Given the description of an element on the screen output the (x, y) to click on. 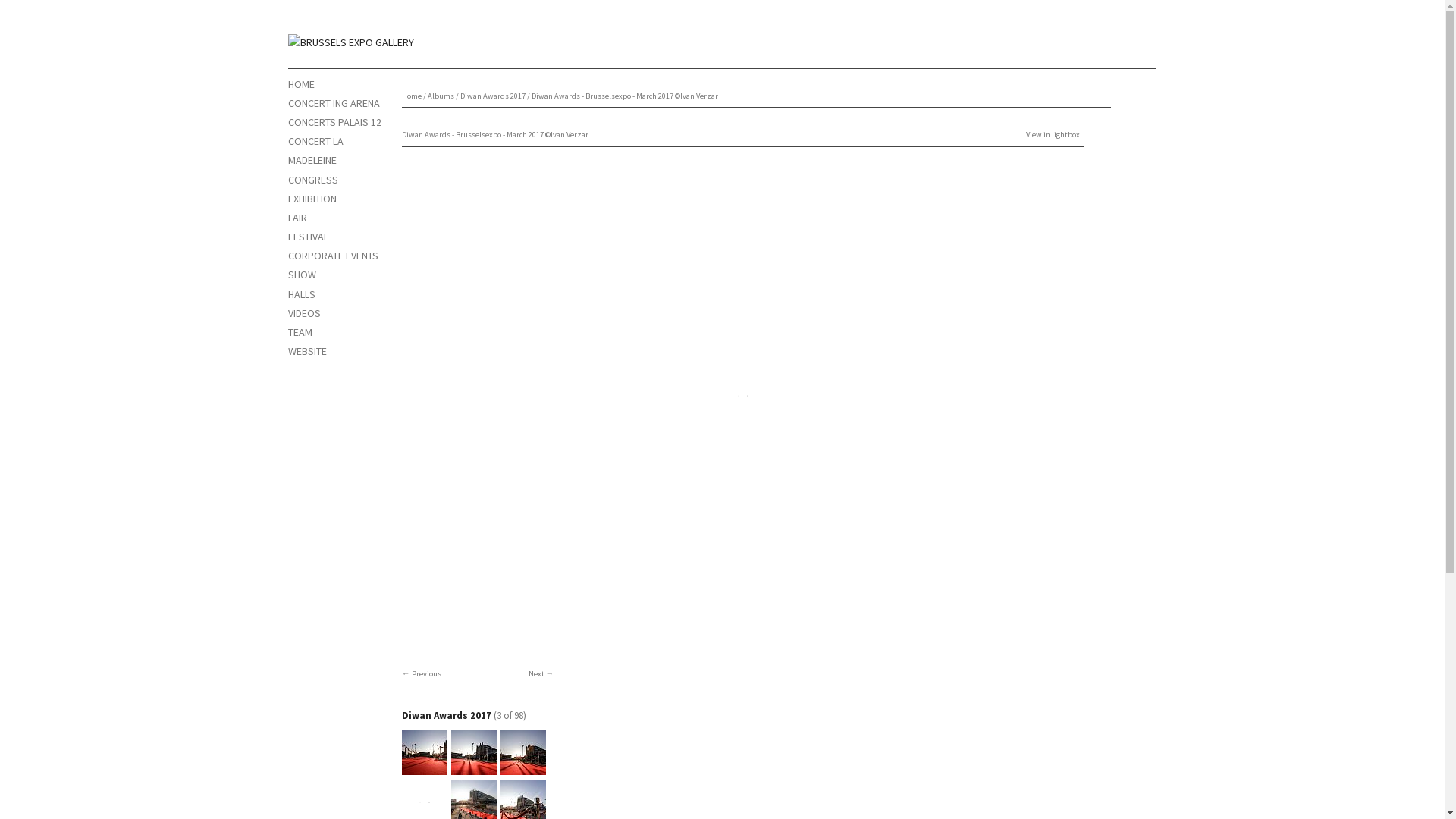
WEBSITE Element type: text (307, 350)
Diwan Awards 2017 Element type: text (446, 715)
HALLS Element type: text (301, 294)
Next Element type: text (540, 673)
FESTIVAL Element type: text (308, 236)
HOME Element type: text (301, 84)
VIDEOS Element type: text (304, 313)
CONCERT LA MADELEINE Element type: text (315, 150)
Home Element type: hover (351, 42)
View in lightbox Element type: text (1052, 134)
SHOW Element type: text (302, 274)
TEAM Element type: text (300, 331)
Diwan Awards 2017 Element type: text (492, 95)
Albums Element type: text (440, 95)
CONCERTS PALAIS 12 Element type: text (334, 121)
CONCERT ING ARENA Element type: text (333, 102)
CORPORATE EVENTS Element type: text (333, 255)
FAIR Element type: text (297, 217)
CONGRESS Element type: text (313, 179)
Lightbox Element type: hover (742, 625)
EXHIBITION Element type: text (312, 198)
Home Element type: text (411, 95)
Previous Element type: text (421, 673)
